Given the description of an element on the screen output the (x, y) to click on. 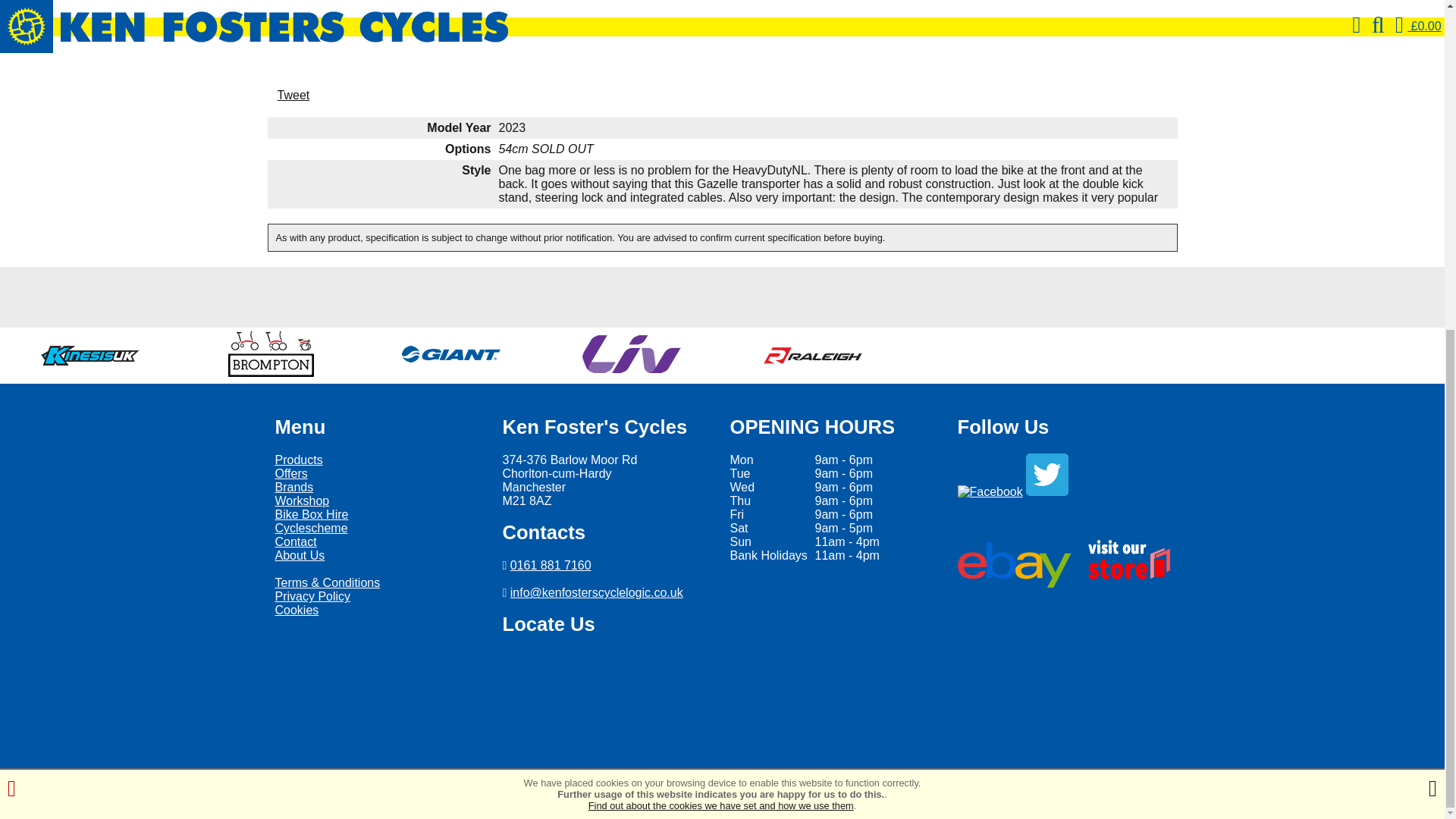
Tweet (294, 94)
